Given the description of an element on the screen output the (x, y) to click on. 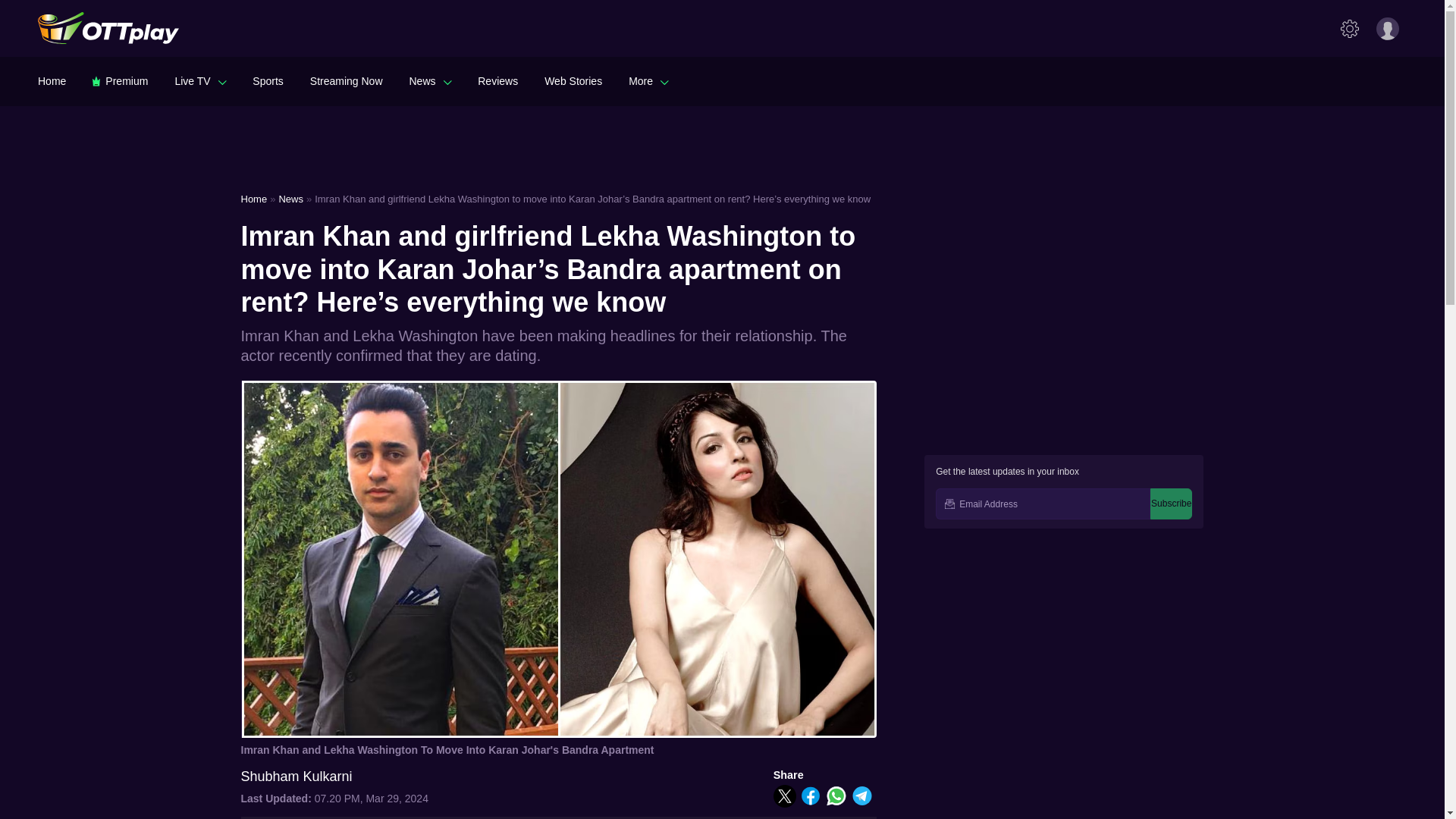
Streaming Now (346, 80)
Live TV (199, 80)
News (430, 80)
Web Stories (573, 80)
Premium (120, 80)
